Given the description of an element on the screen output the (x, y) to click on. 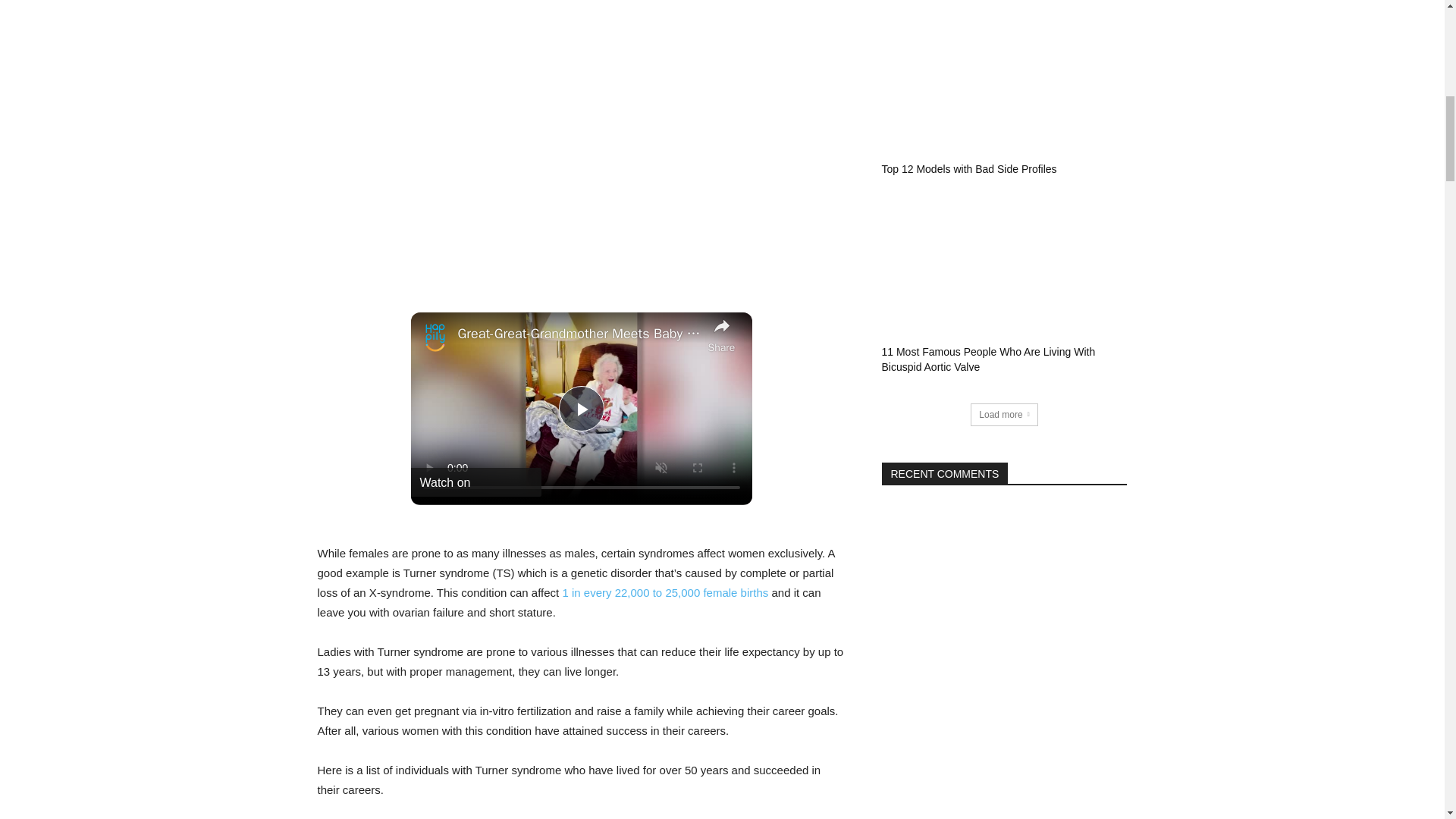
Play Video (580, 408)
